Given the description of an element on the screen output the (x, y) to click on. 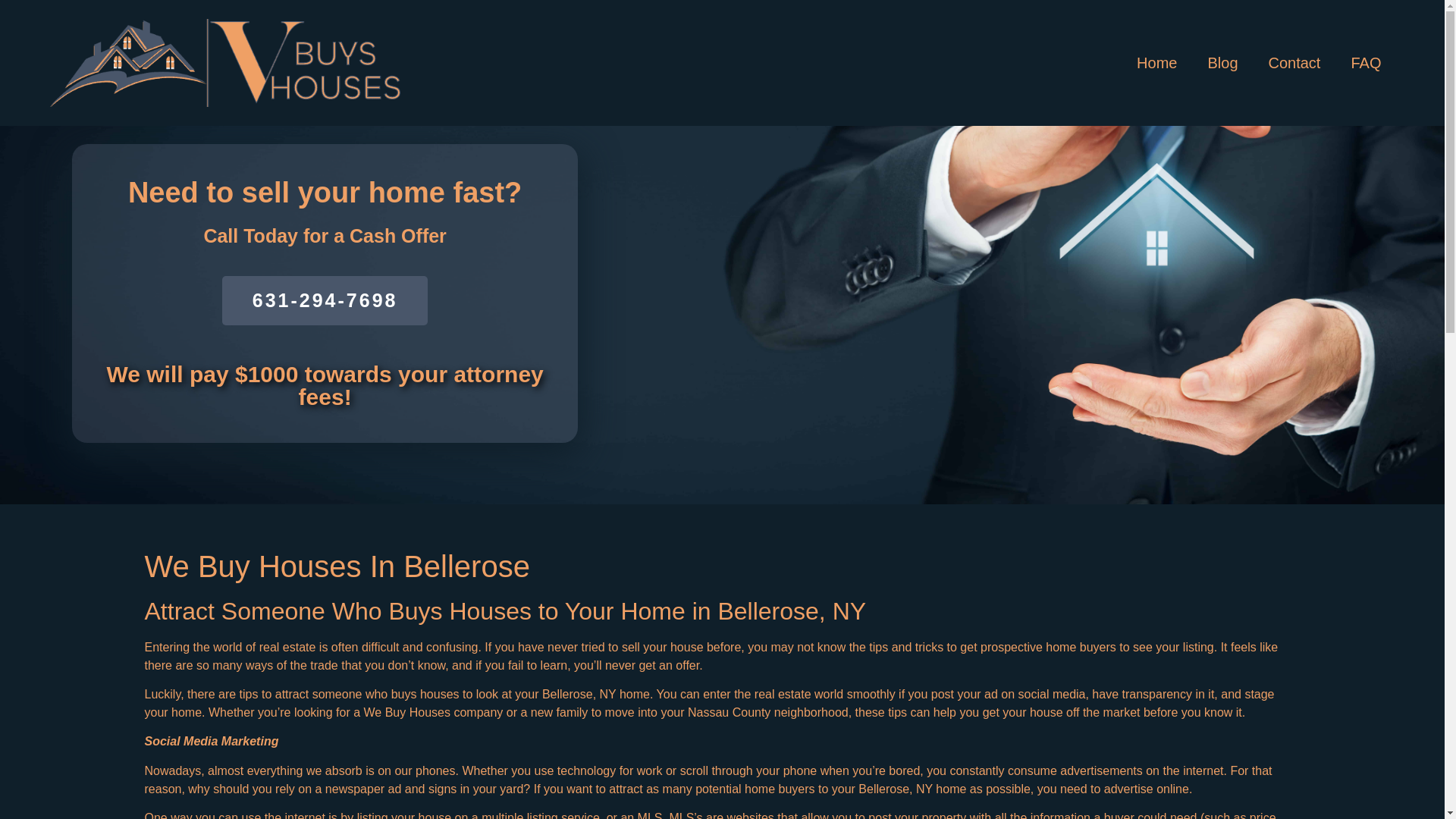
Home (1156, 62)
Blog (1222, 62)
631-294-7698 (325, 300)
FAQ (1365, 62)
Contact (1293, 62)
